Given the description of an element on the screen output the (x, y) to click on. 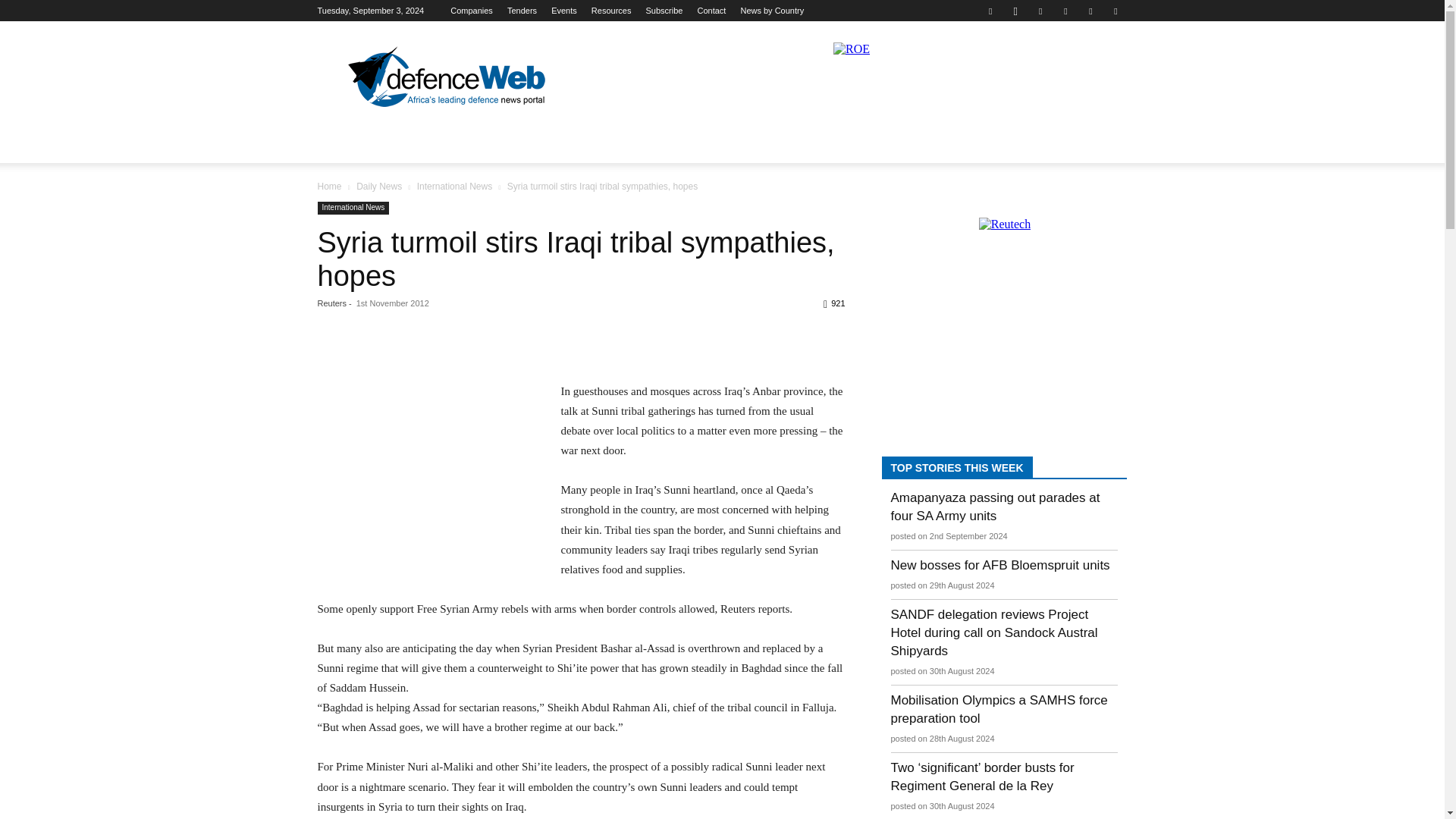
Mail (1065, 10)
Twitter (1090, 10)
Facebook (989, 10)
Linkedin (1040, 10)
Youtube (1114, 10)
Instagram (1015, 10)
